Given the description of an element on the screen output the (x, y) to click on. 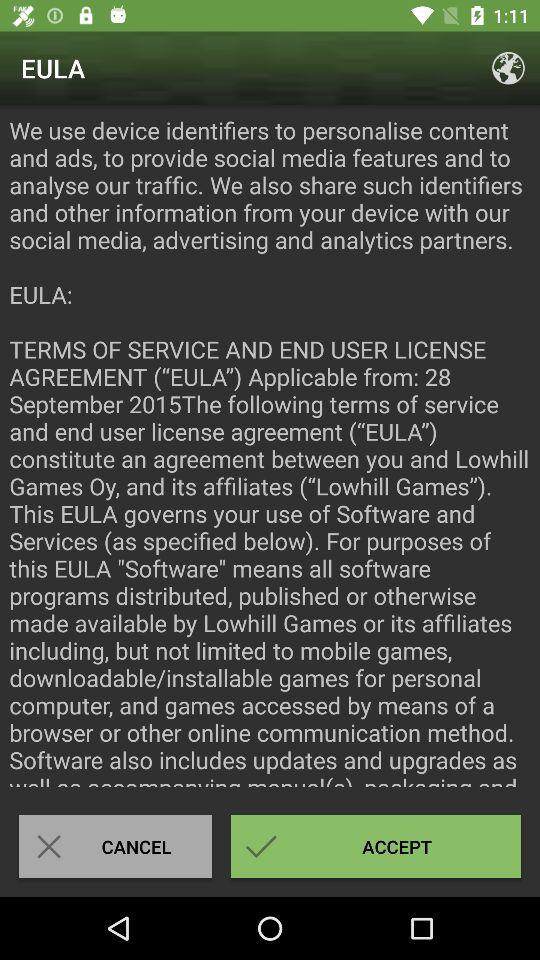
tap item at the bottom right corner (375, 846)
